Given the description of an element on the screen output the (x, y) to click on. 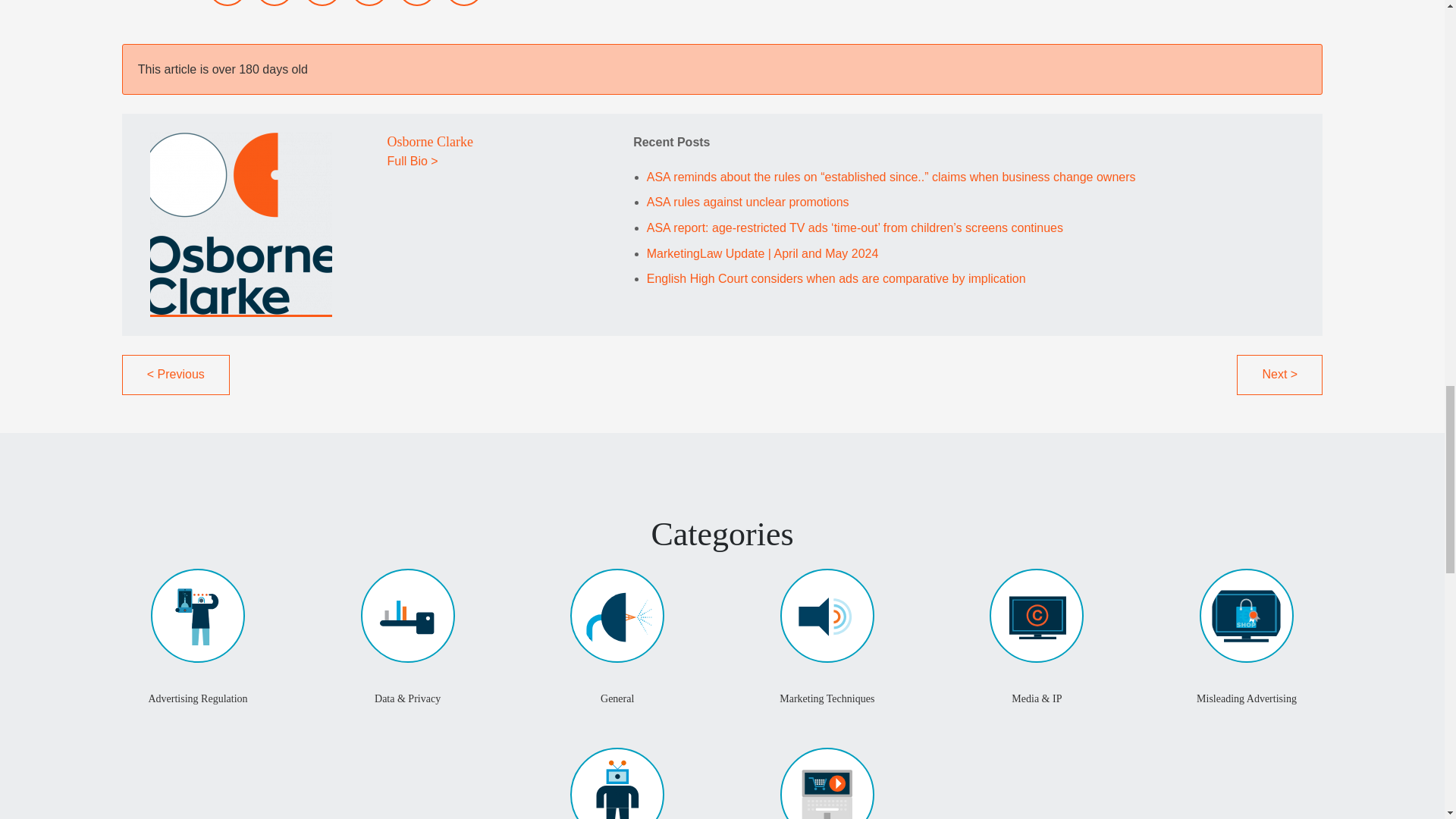
Advertising Regulation (197, 702)
Permalink to ASA rules against unclear promotions (747, 201)
marketinglaw Print Article (464, 2)
marketinglaw LinkedIn account (275, 2)
marketinglaw Twitter account (227, 2)
marketinglaw Google Plus account (321, 2)
marketinglaw Facebook account (369, 2)
marketinglaw Email Article Link (416, 2)
Osborne Clarke (429, 141)
'View all posts by Osborne Clarke (429, 141)
Marketing Techniques (827, 702)
General (617, 702)
ASA rules against unclear promotions (747, 201)
